Given the description of an element on the screen output the (x, y) to click on. 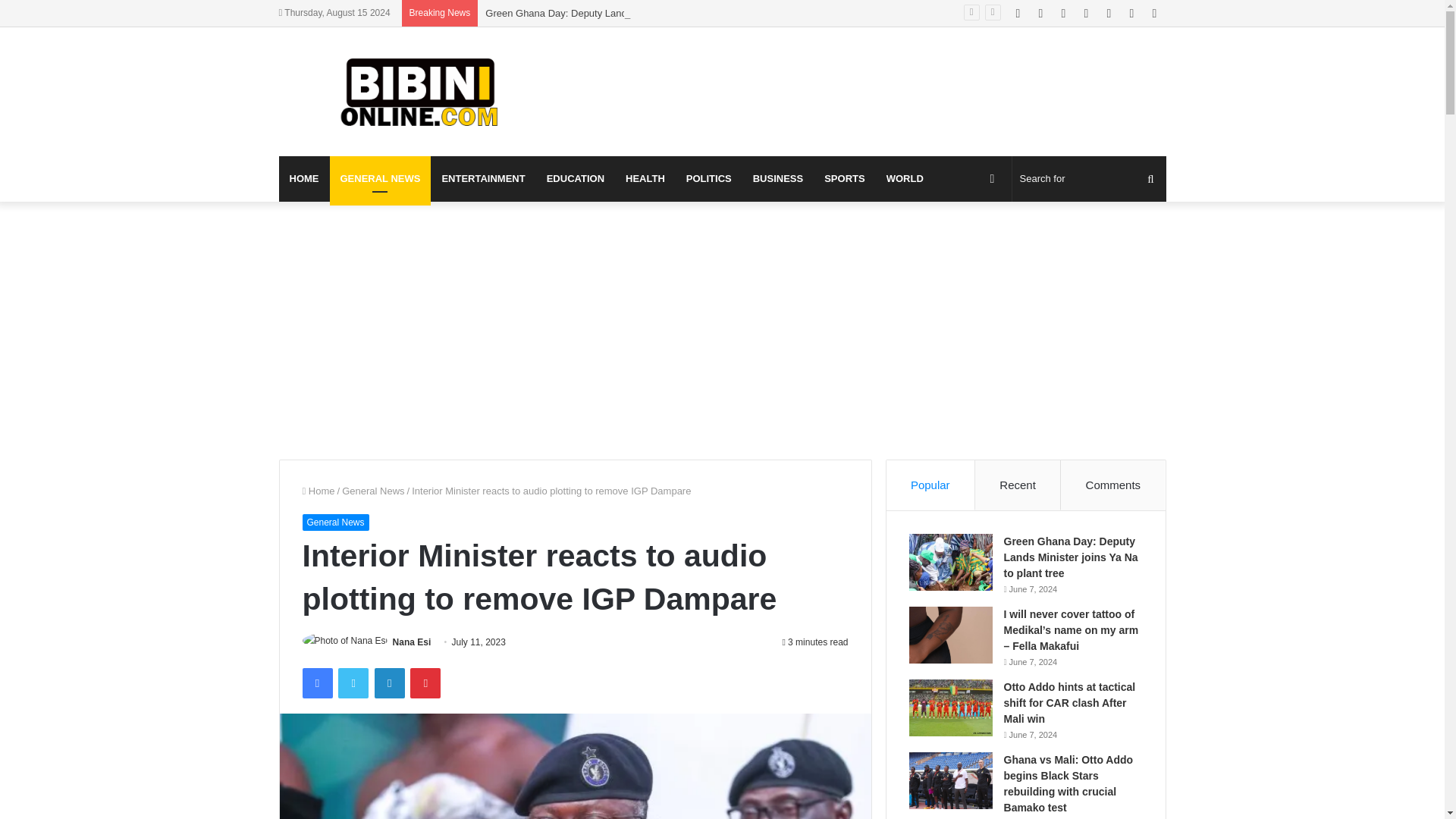
SPORTS (844, 178)
Pinterest (425, 683)
WORLD (905, 178)
EDUCATION (574, 178)
Nana Esi (411, 642)
Facebook (316, 683)
Twitter (352, 683)
GENERAL NEWS (379, 178)
HOME (304, 178)
